Given the description of an element on the screen output the (x, y) to click on. 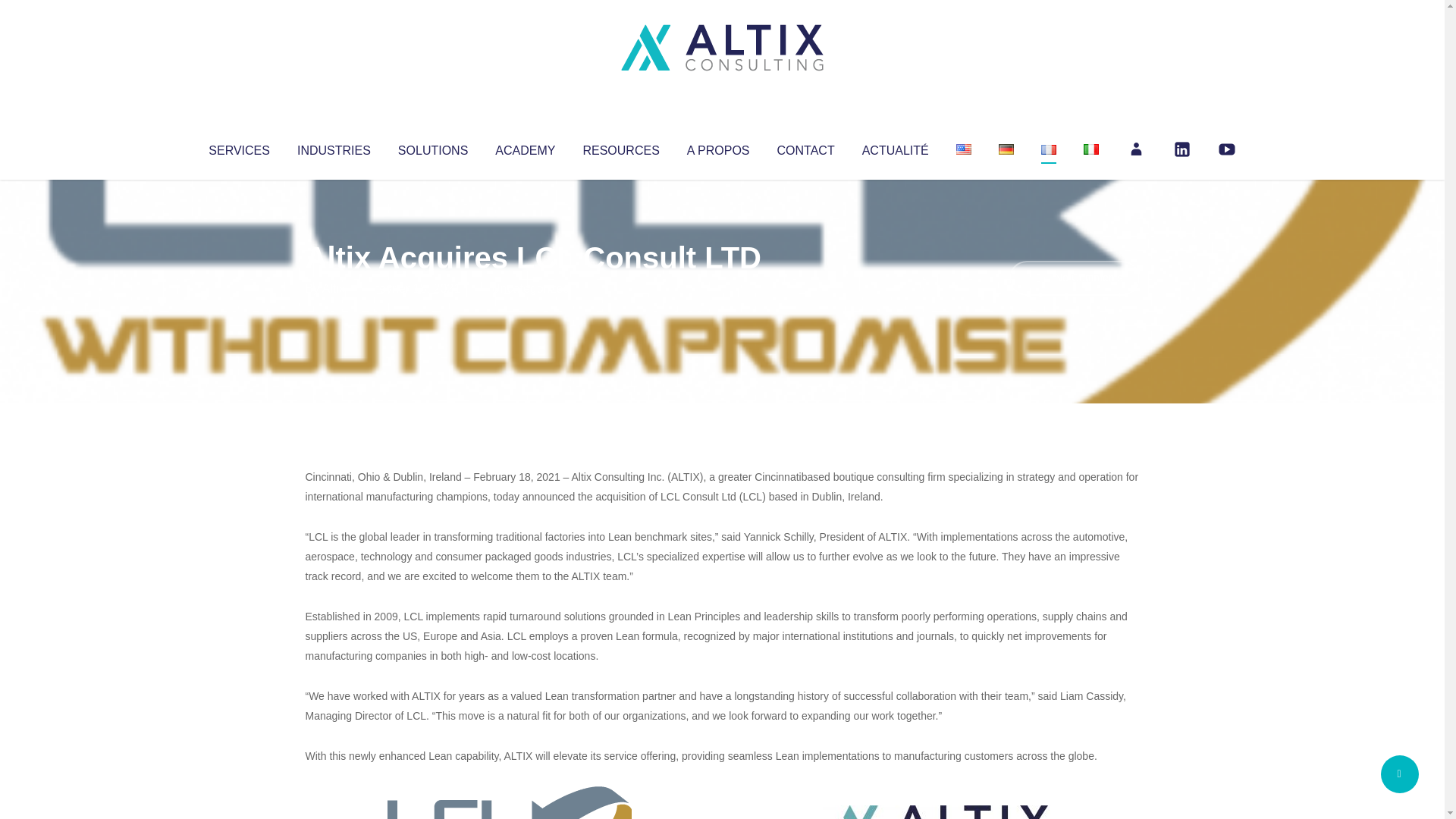
ACADEMY (524, 146)
SERVICES (238, 146)
INDUSTRIES (334, 146)
RESOURCES (620, 146)
SOLUTIONS (432, 146)
Uncategorized (530, 287)
Articles par Altix (333, 287)
A PROPOS (718, 146)
No Comments (1073, 278)
Altix (333, 287)
